Given the description of an element on the screen output the (x, y) to click on. 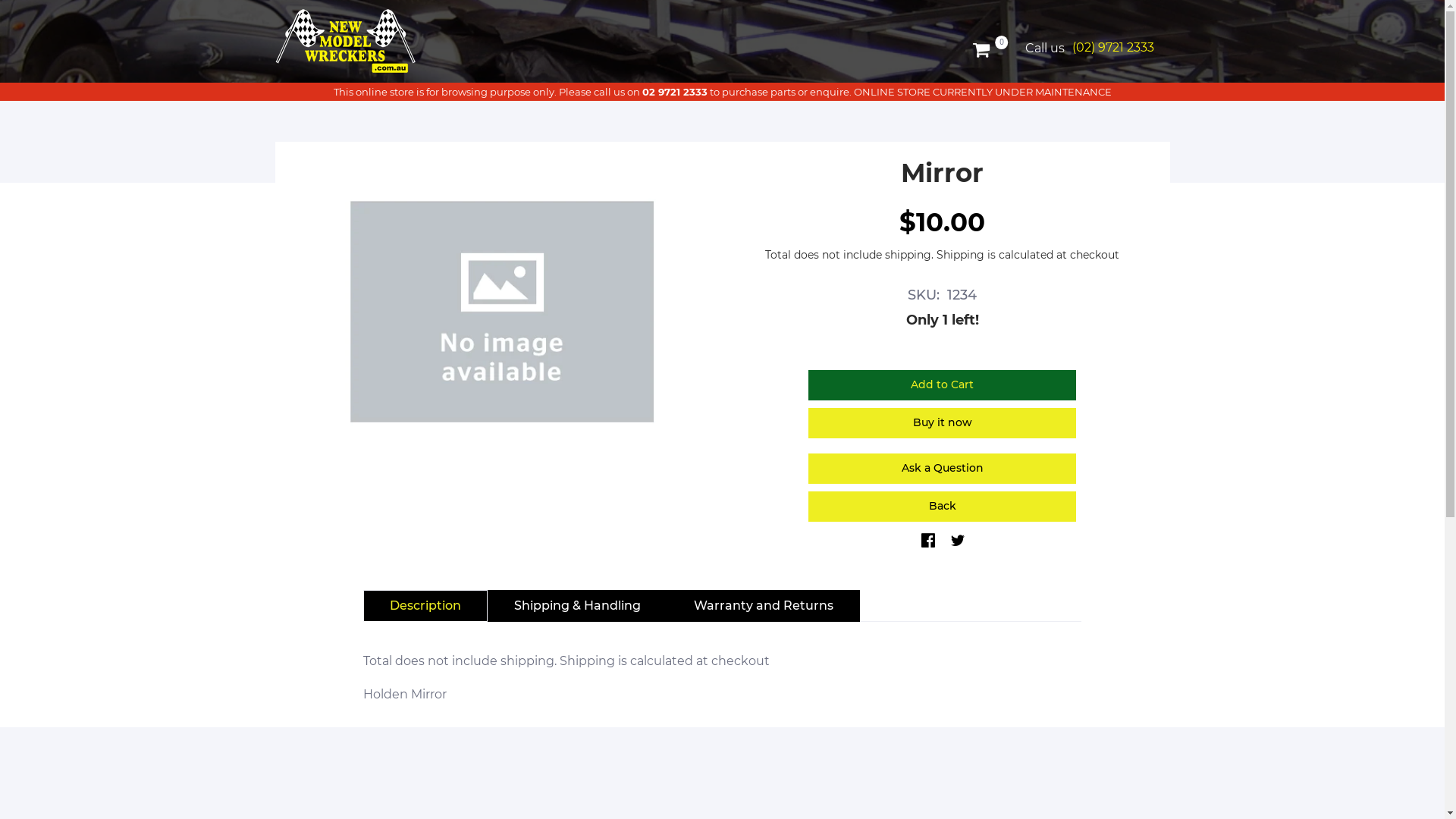
New Model Wreckers Element type: hover (346, 41)
02 9721 2333 Element type: text (673, 91)
Ask a Question Element type: text (942, 468)
Description Element type: text (425, 605)
0 Element type: text (987, 48)
Back Element type: text (942, 506)
(02) 9721 2333 Element type: text (1113, 47)
Warranty and Returns Element type: text (763, 605)
View cart Element type: text (803, 90)
Buy it now Element type: text (942, 422)
Shipping & Handling Element type: text (577, 605)
Add to Cart Element type: text (942, 385)
Check Out Element type: text (895, 89)
